Given the description of an element on the screen output the (x, y) to click on. 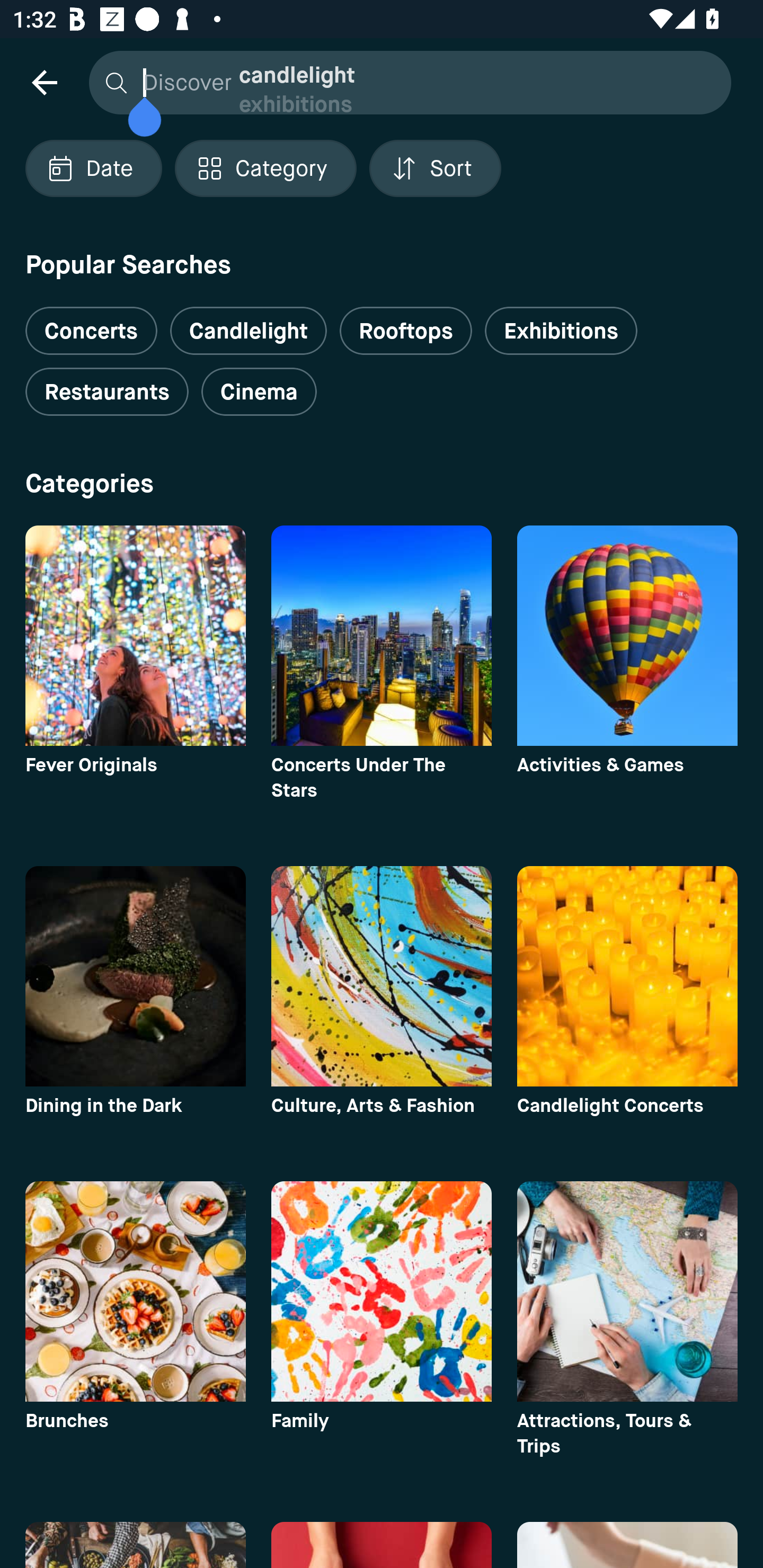
navigation icon (44, 81)
Discover candlelight (405, 81)
Localized description Date (93, 168)
Localized description Category (265, 168)
Localized description Sort (435, 168)
Concerts (91, 323)
Candlelight (248, 330)
Rooftops (405, 330)
Exhibitions (560, 330)
Restaurants (106, 391)
Cinema (258, 391)
category image (135, 635)
category image (381, 635)
category image (627, 635)
category image (135, 975)
category image (381, 975)
category image (627, 975)
category image (135, 1290)
category image (381, 1290)
category image (627, 1290)
